Given the description of an element on the screen output the (x, y) to click on. 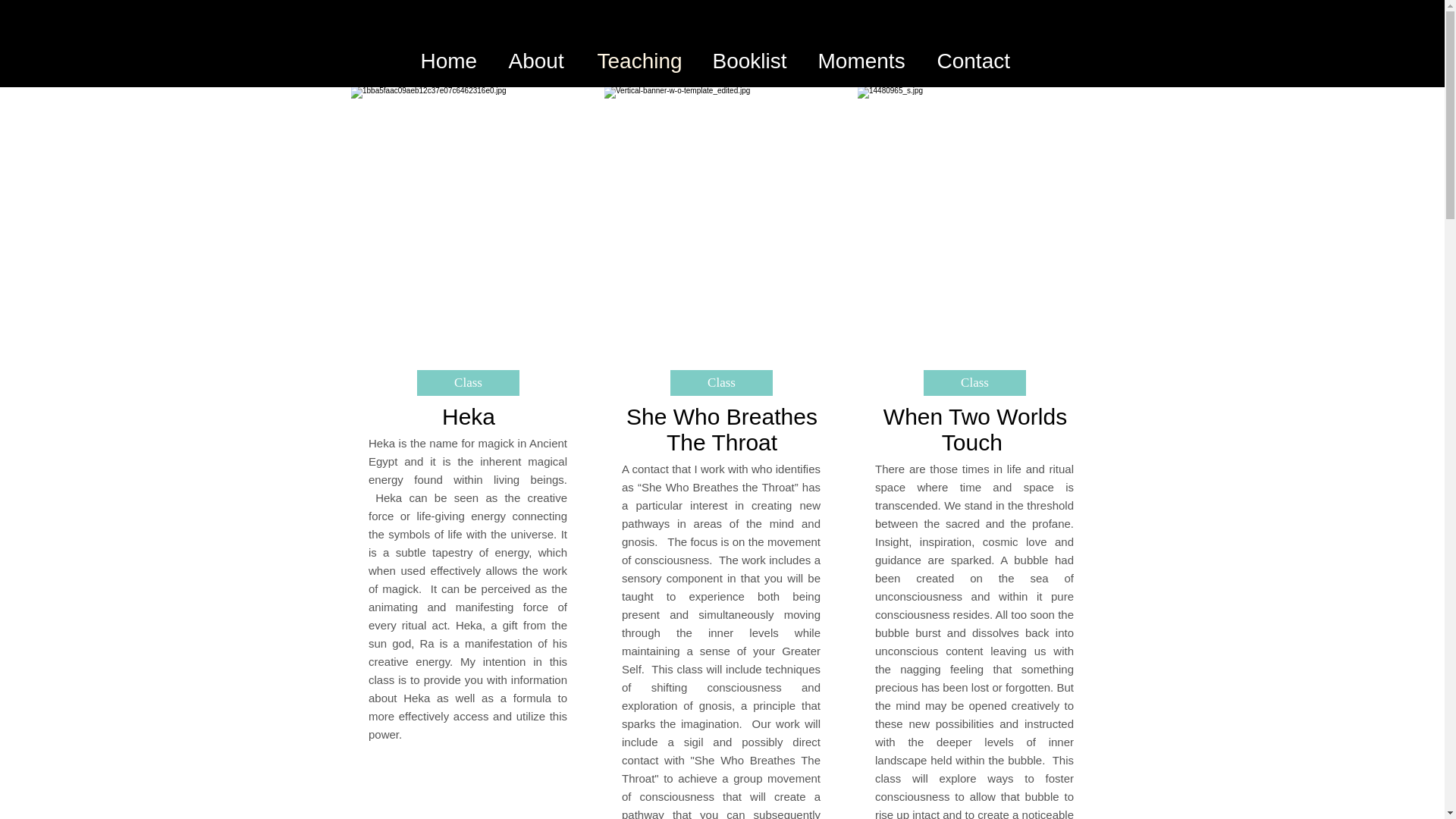
About (541, 61)
Home (452, 61)
Booklist (752, 61)
Contact (975, 61)
Teaching (642, 61)
Moments (865, 61)
